Given the description of an element on the screen output the (x, y) to click on. 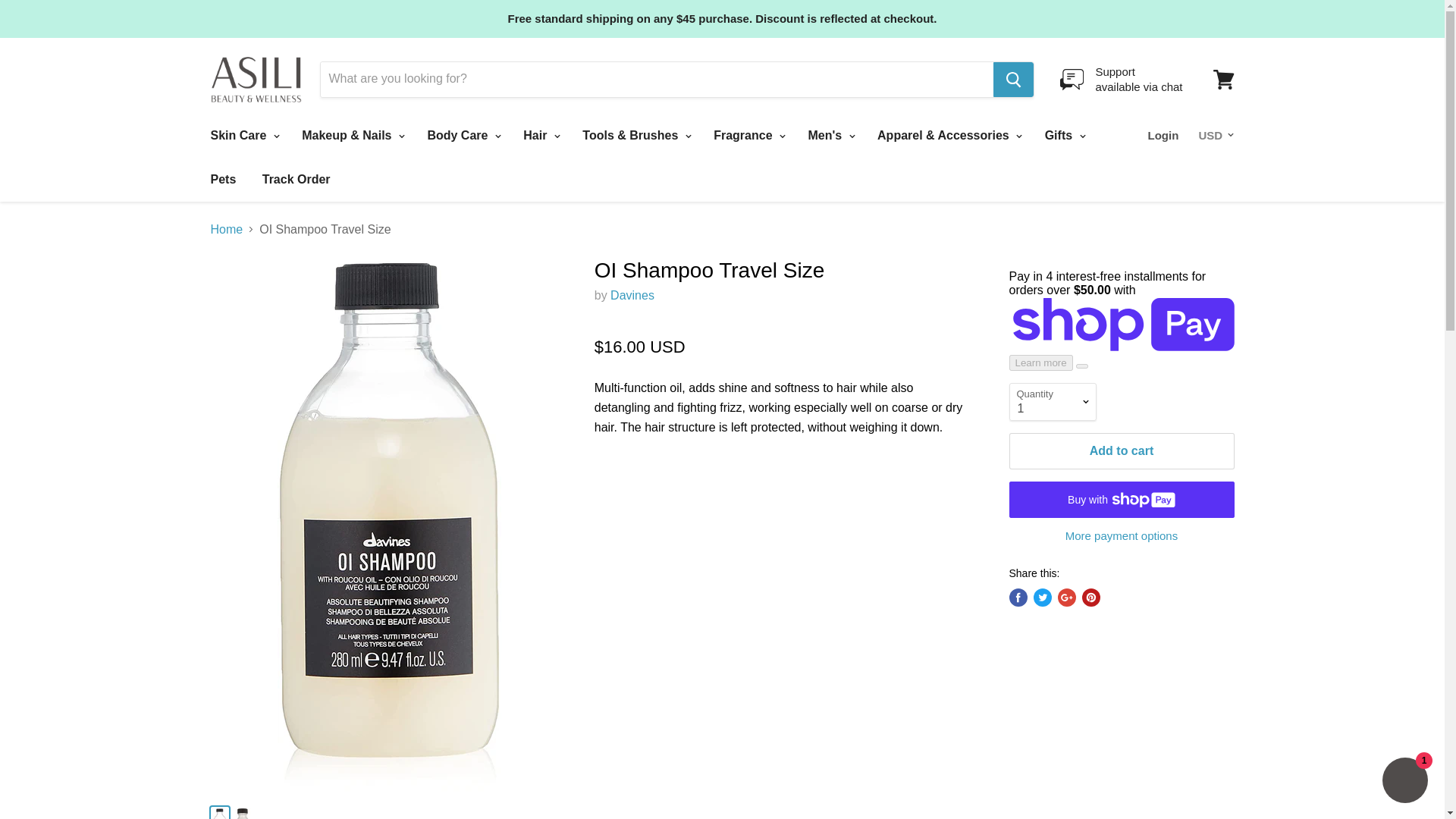
Skin Care (242, 135)
Shopify online store chat (1404, 781)
Davines (1120, 79)
View cart (631, 295)
